Given the description of an element on the screen output the (x, y) to click on. 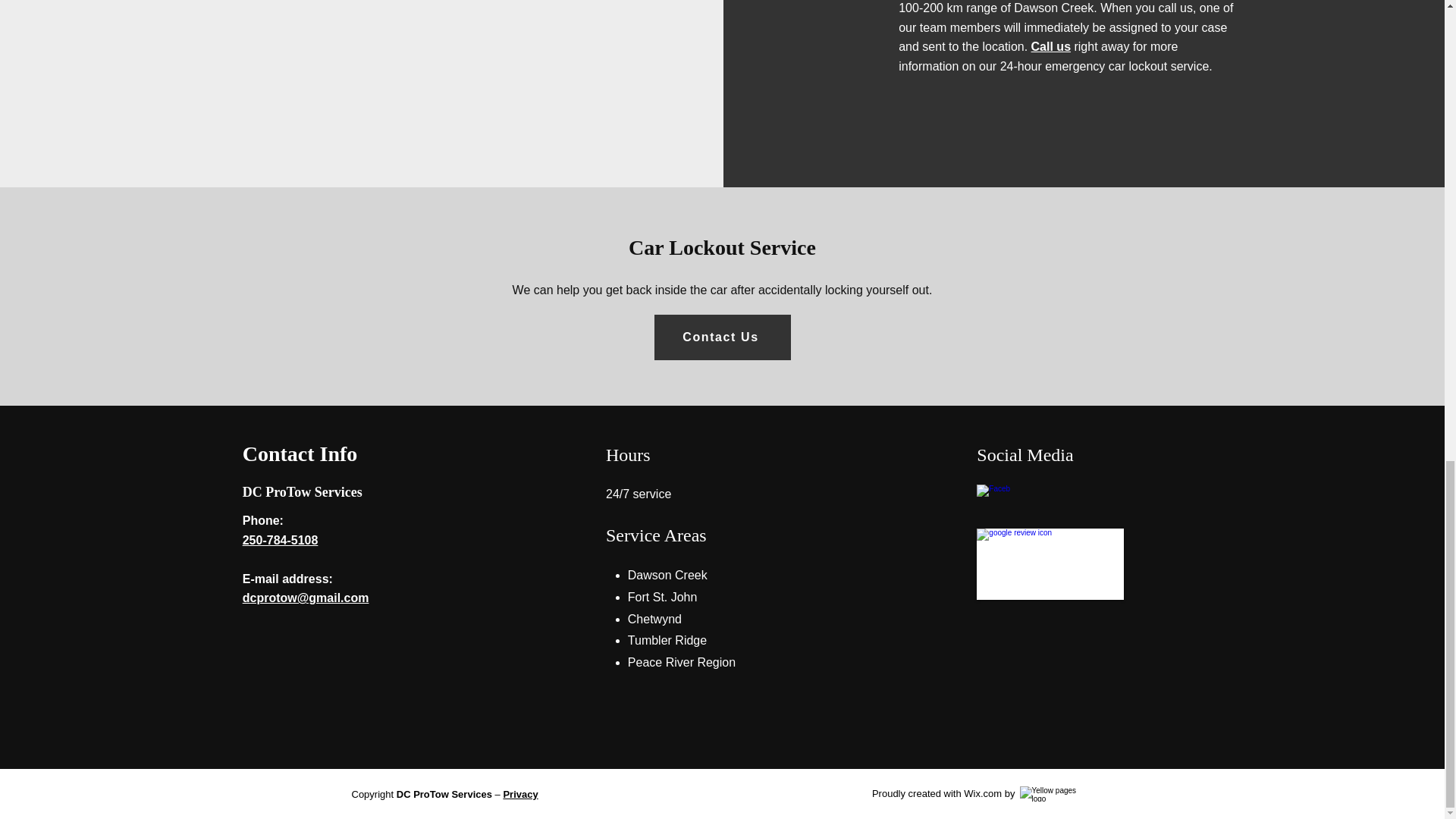
DC logo (1050, 563)
250-784-5108 (280, 539)
Privacy (519, 794)
Call us (1050, 46)
Contact Us (721, 337)
